Given the description of an element on the screen output the (x, y) to click on. 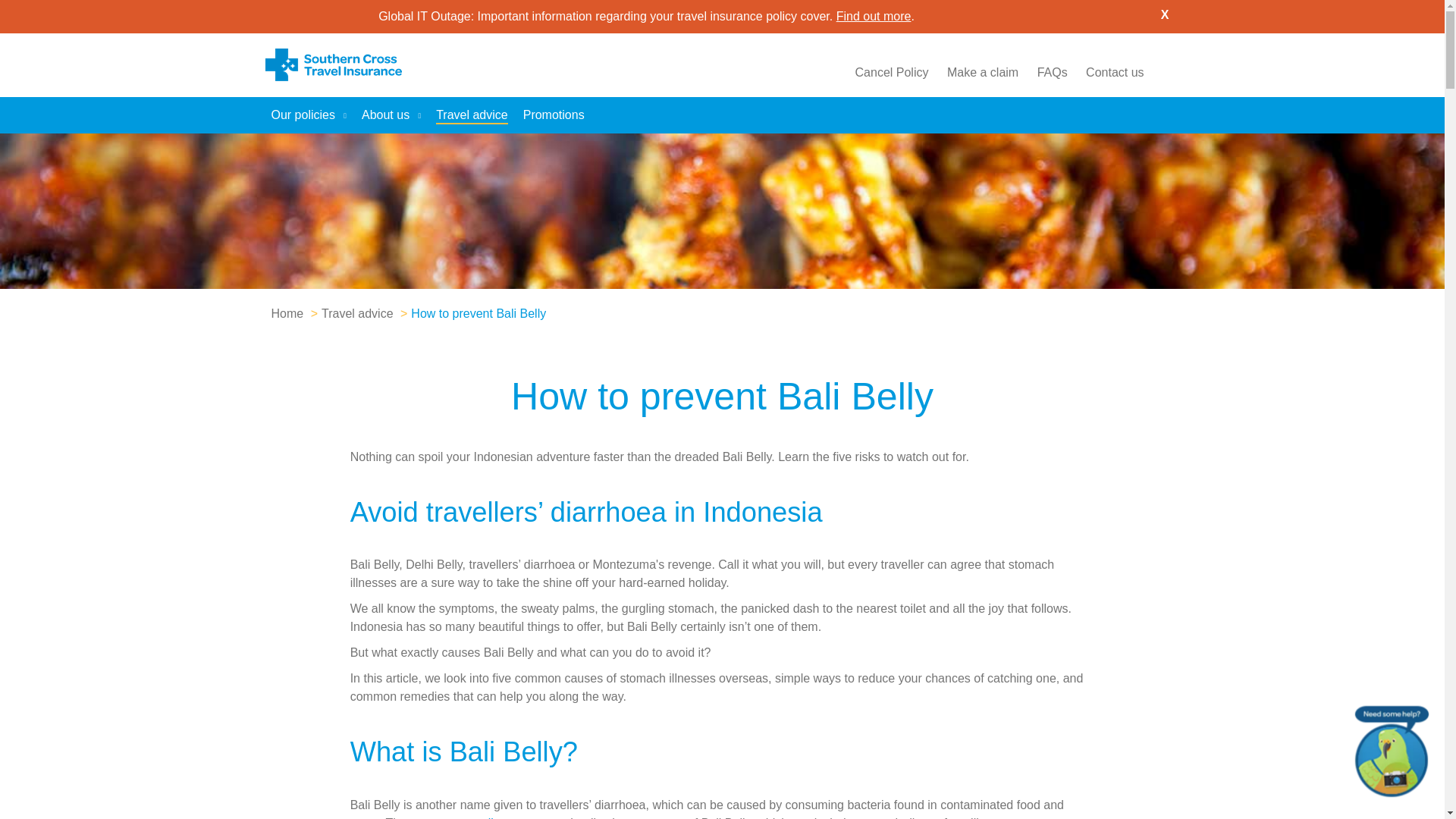
Contact us (1114, 72)
Our policies (308, 115)
Logo (332, 64)
Make a claim (982, 72)
Cancel Policy (892, 72)
Frequently Asked Questions (1051, 72)
Contact us (1114, 72)
FAQs (1051, 72)
Find out more (873, 15)
X (1164, 14)
